Given the description of an element on the screen output the (x, y) to click on. 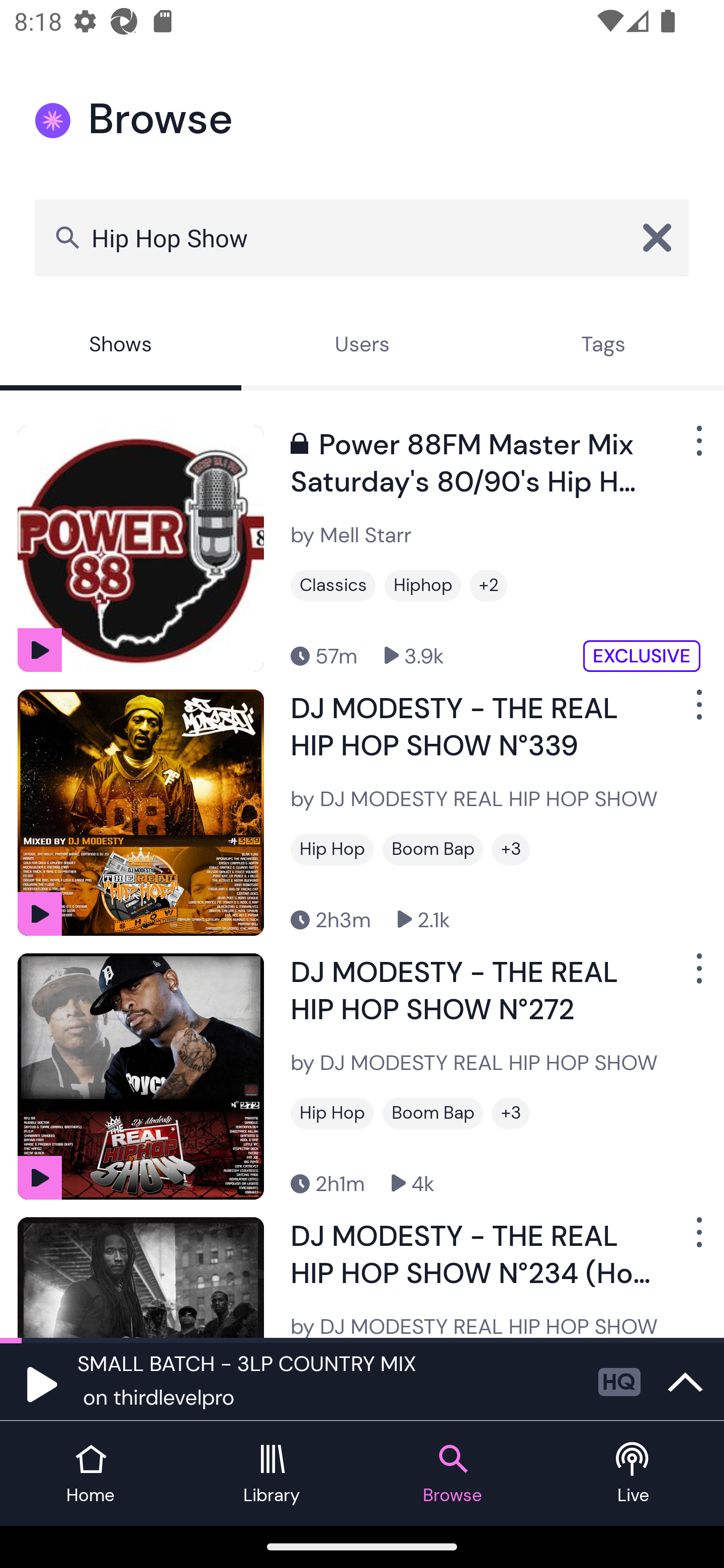
Hip Hop Show (361, 237)
Shows (120, 346)
Users (361, 346)
Tags (603, 346)
Show Options Menu Button (697, 447)
Classics (332, 585)
Hiphop (422, 585)
Show Options Menu Button (697, 712)
Hip Hop (331, 849)
Boom Bap (432, 849)
Show Options Menu Button (697, 975)
Hip Hop (331, 1112)
Boom Bap (432, 1112)
Show Options Menu Button (697, 1239)
Home tab Home (90, 1473)
Library tab Library (271, 1473)
Browse tab Browse (452, 1473)
Live tab Live (633, 1473)
